Given the description of an element on the screen output the (x, y) to click on. 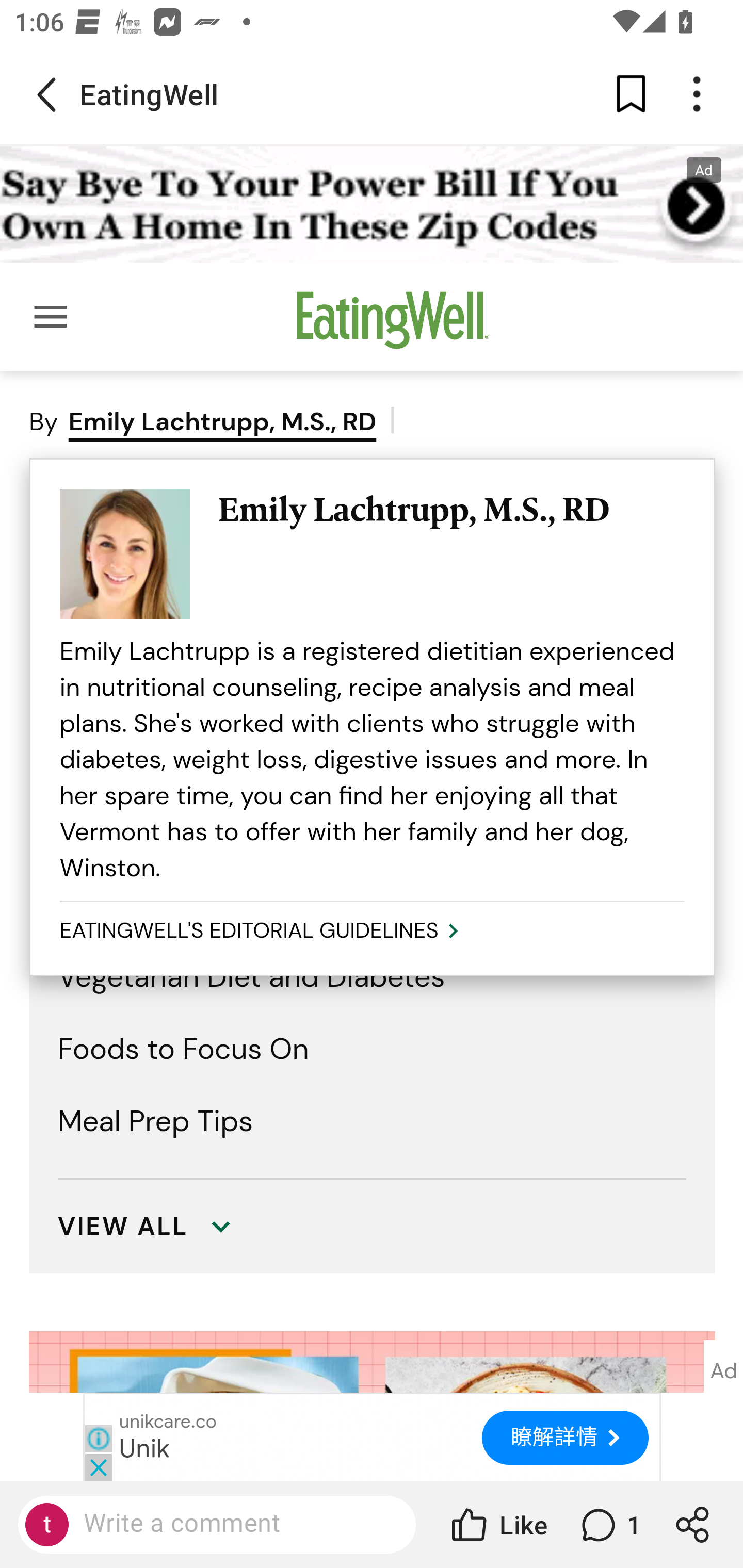
Visit EatingWell's homepage EatingWell (393, 326)
Main menu for EatingWell (50, 317)
Emily Lachtrupp, M.S., RD (221, 422)
Emily Lachtrupp, M.S., RD (451, 510)
In This Article VIEW ALL (372, 764)
Why This Meal Plan Is Great for You (291, 833)
EATINGWELL'S EDITORIAL GUIDELINES (262, 931)
Foods to Focus On (183, 1050)
Meal Prep Tips (155, 1122)
VIEW ALL (372, 1211)
VIEW ALL (123, 1227)
unikcare.co (168, 1423)
瞭解詳情 (565, 1438)
Unik (144, 1448)
Like (497, 1524)
1 (608, 1524)
Write a comment (234, 1523)
